Given the description of an element on the screen output the (x, y) to click on. 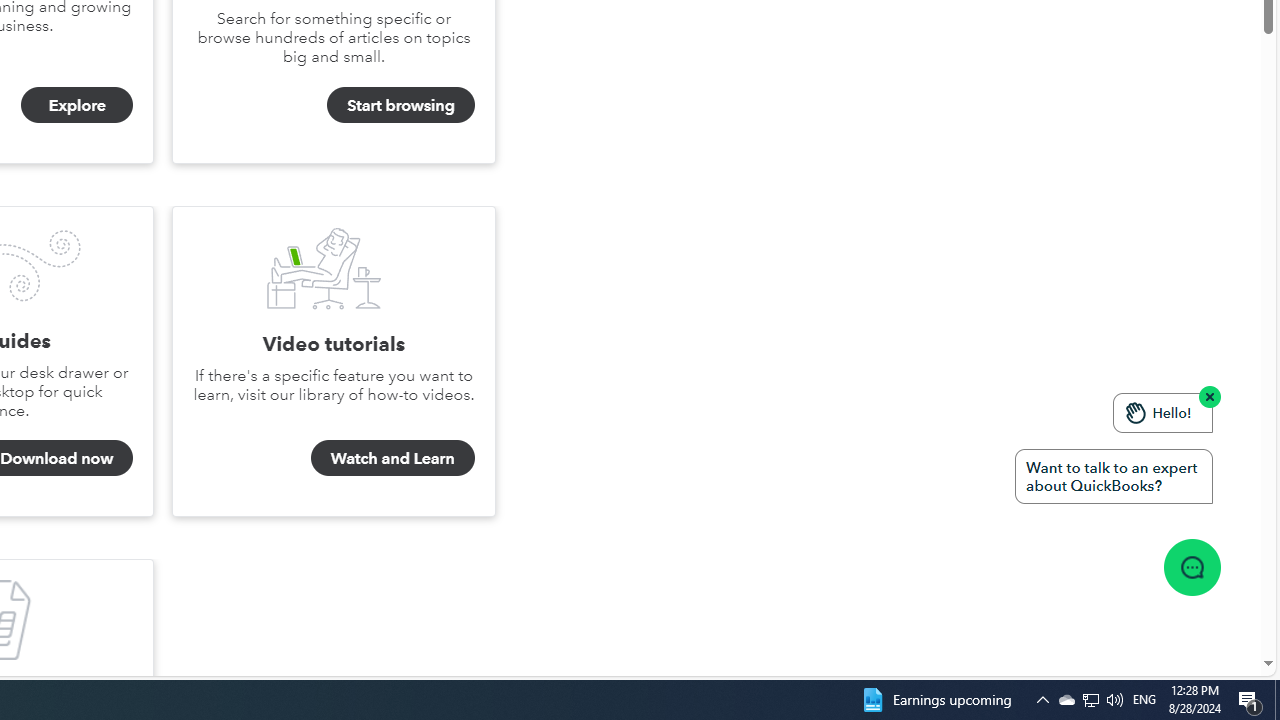
hand-icon (1135, 412)
Explore (77, 105)
Class: message-icon_img-desktop (1191, 566)
Watch and Learn (391, 457)
Watch and Learn (324, 268)
Start browsing (400, 105)
